Given the description of an element on the screen output the (x, y) to click on. 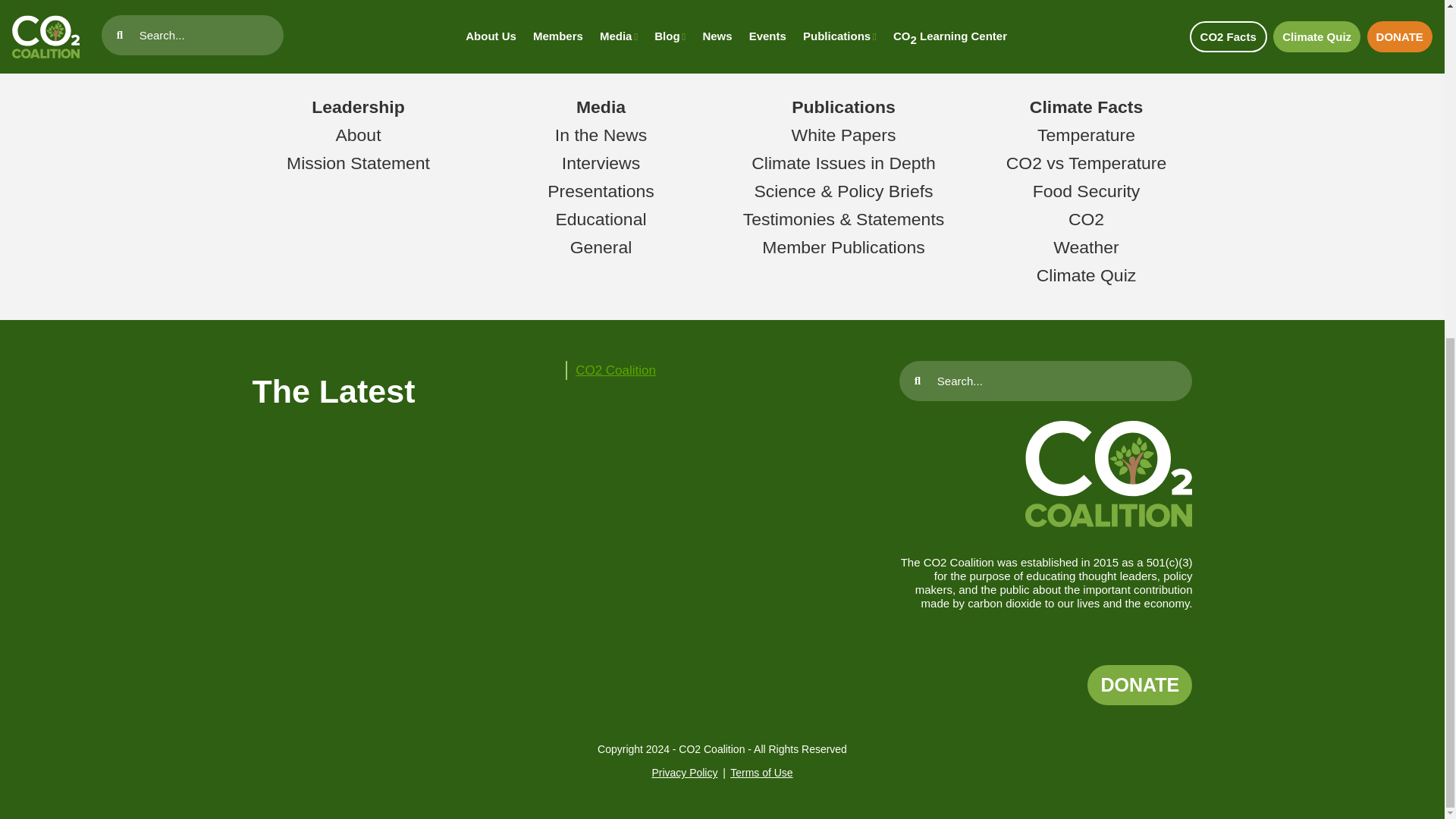
SIGN ME UP (1083, 10)
Interviews (601, 162)
Mission Statement (357, 162)
About (357, 134)
General (600, 247)
Leadership (357, 107)
SIGN ME UP (1083, 10)
Educational (600, 219)
In the News (600, 134)
White Papers (844, 134)
Media (601, 107)
Presentations (600, 190)
Publications (843, 107)
